Given the description of an element on the screen output the (x, y) to click on. 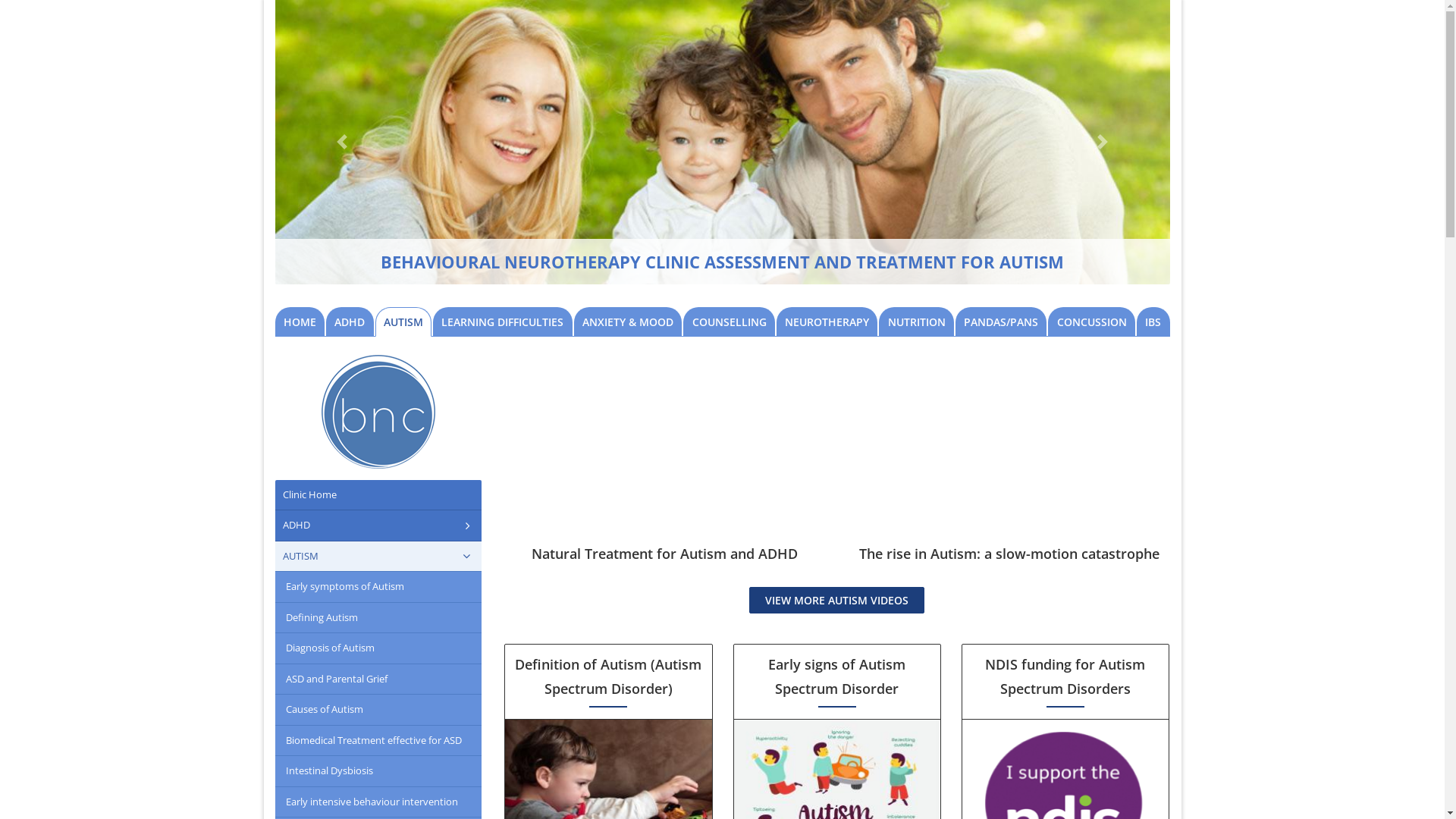
HOME Element type: text (299, 321)
ASD and Parental Grief Element type: text (377, 679)
Defining Autism Element type: text (377, 617)
Biomedical Treatment effective for ASD Element type: text (377, 740)
Causes of Autism Element type: text (377, 709)
NEUROTHERAPY Element type: text (827, 321)
Previous Element type: text (341, 142)
Next Element type: text (1102, 142)
Clinic Home Element type: text (377, 495)
ANXIETY & MOOD Element type: text (628, 321)
PANDAS/PANS Element type: text (1001, 321)
LEARNING DIFFICULTIES Element type: text (502, 321)
Early intensive behaviour intervention Element type: text (377, 802)
AUTISM Element type: text (377, 556)
Natural Treatment for Autism and ADHD Element type: text (664, 553)
Skip to main content Element type: text (0, 0)
COUNSELLING Element type: text (729, 321)
Early symptoms of Autism Element type: text (377, 586)
NDIS funding for Autism Spectrum Disorders Element type: text (1065, 676)
ADHD Element type: text (349, 321)
Early signs of Autism Spectrum Disorder Element type: text (836, 676)
CONCUSSION Element type: text (1091, 321)
Diagnosis of Autism Element type: text (377, 648)
Intestinal Dysbiosis Element type: text (377, 771)
The rise in Autism: a slow-motion catastrophe Element type: text (1009, 553)
IBS Element type: text (1153, 321)
AUTISM Element type: text (403, 321)
NUTRITION Element type: text (915, 321)
VIEW MORE AUTISM VIDEOS Element type: text (836, 599)
ADHD Element type: text (377, 525)
Definition of Autism (Autism Spectrum Disorder) Element type: text (607, 676)
